Given the description of an element on the screen output the (x, y) to click on. 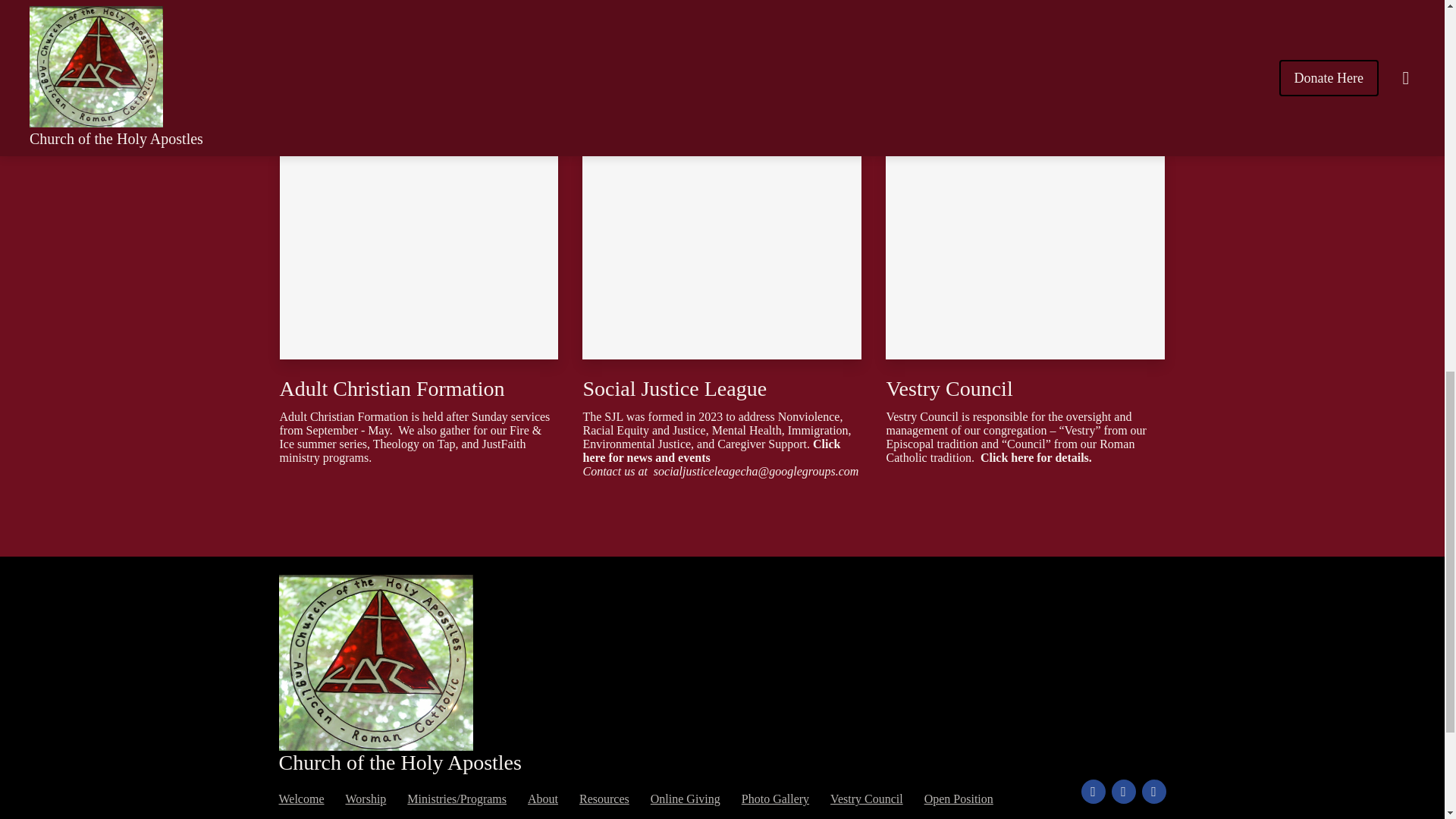
Worship (366, 798)
Photo Gallery (775, 798)
About (542, 798)
Vestry Council (865, 798)
Resources (603, 798)
Online Giving (685, 798)
Welcome (301, 798)
Open Position (958, 798)
